Given the description of an element on the screen output the (x, y) to click on. 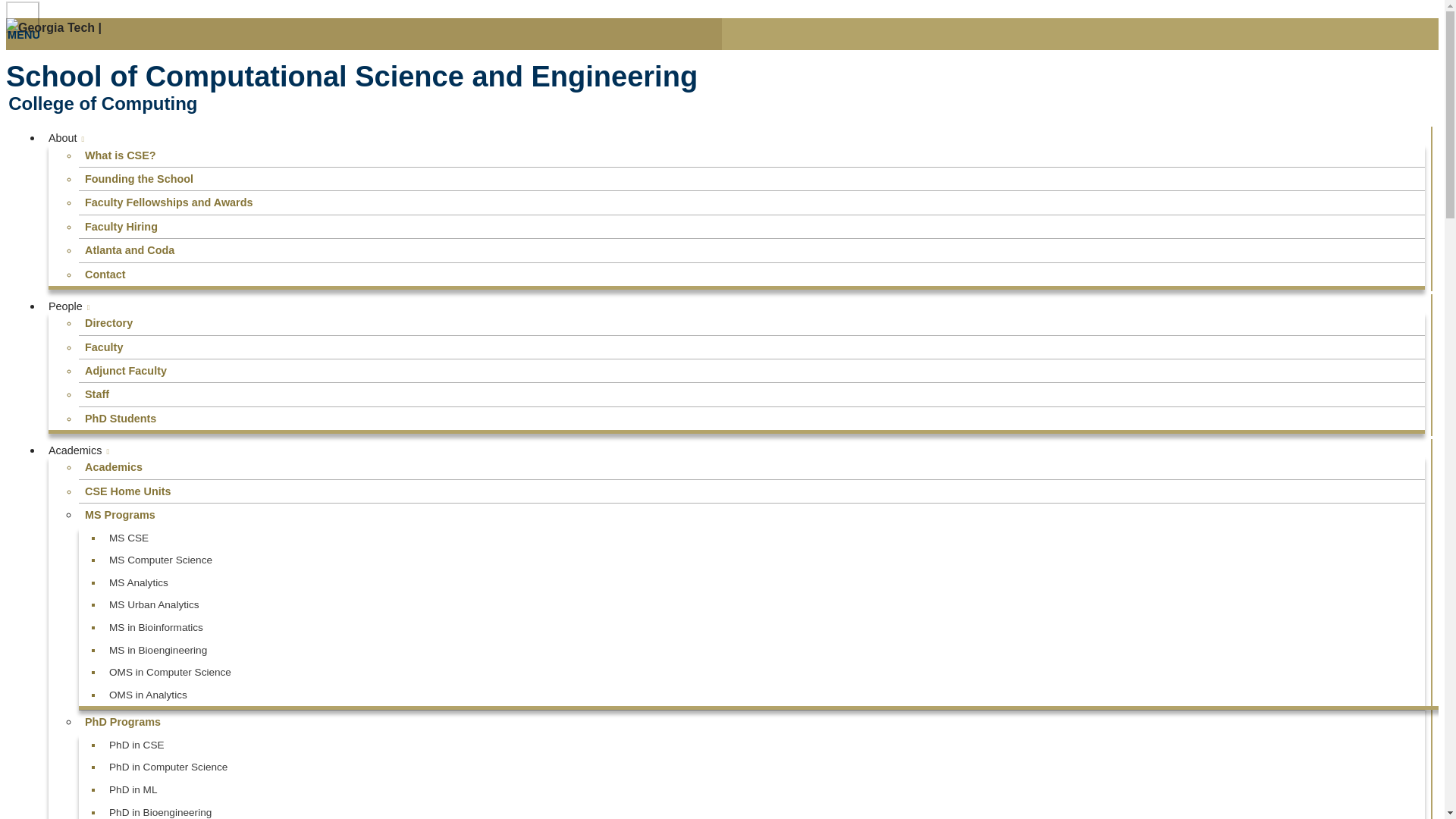
Academics (751, 466)
Faculty (751, 346)
Directory (751, 323)
College of Computing (721, 103)
CSE Home Units (751, 490)
College of Computing (721, 103)
What is CSE? (751, 155)
